Given the description of an element on the screen output the (x, y) to click on. 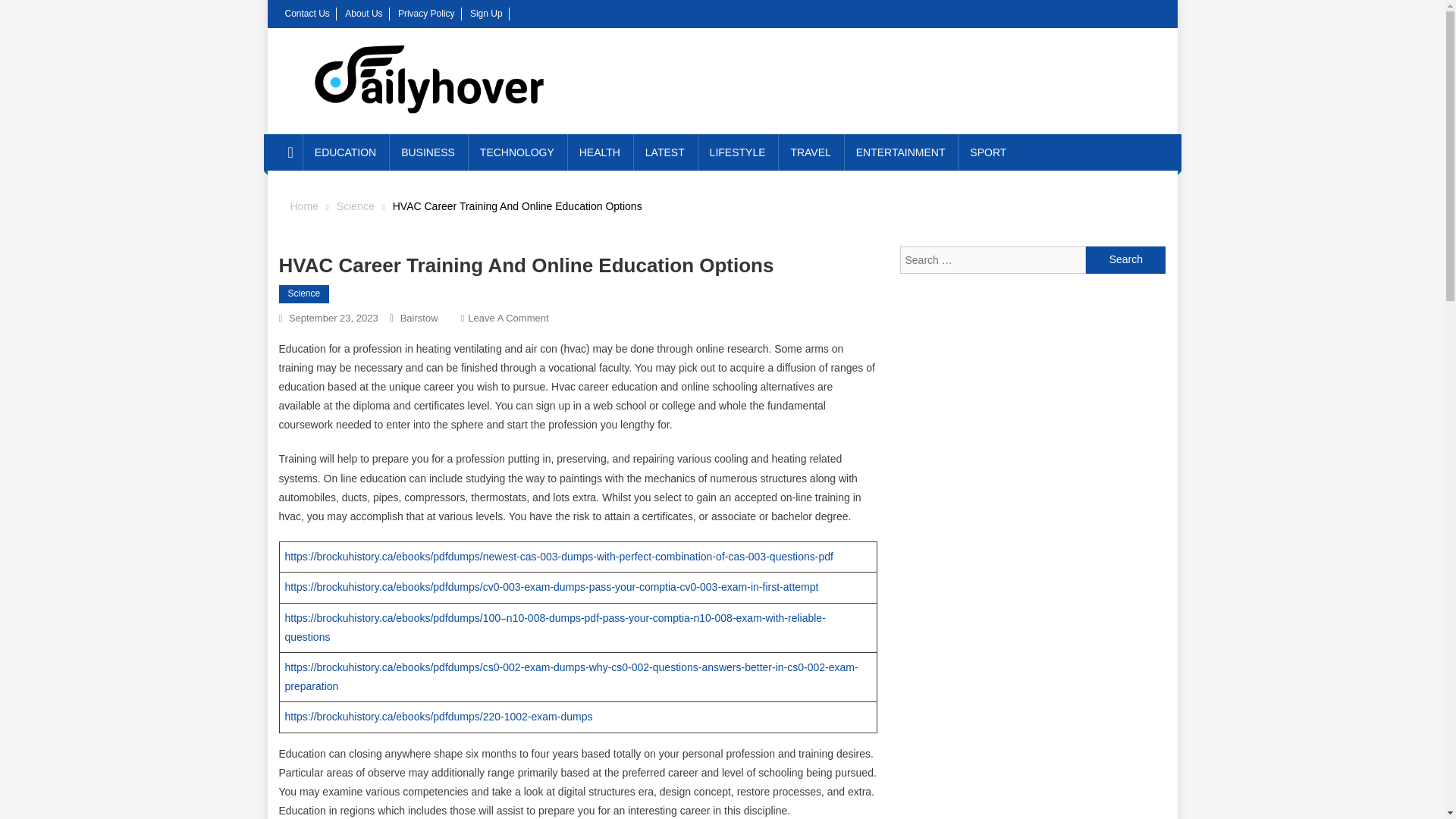
SPORT (987, 152)
Search (1126, 259)
Science (304, 294)
Sign Up (486, 13)
LIFESTYLE (737, 152)
September 23, 2023 (333, 317)
HEALTH (599, 152)
Contact Us (307, 13)
About Us (363, 13)
Bairstow (419, 317)
BUSINESS (427, 152)
TECHNOLOGY (516, 152)
Privacy Policy (425, 13)
EDUCATION (345, 152)
